Given the description of an element on the screen output the (x, y) to click on. 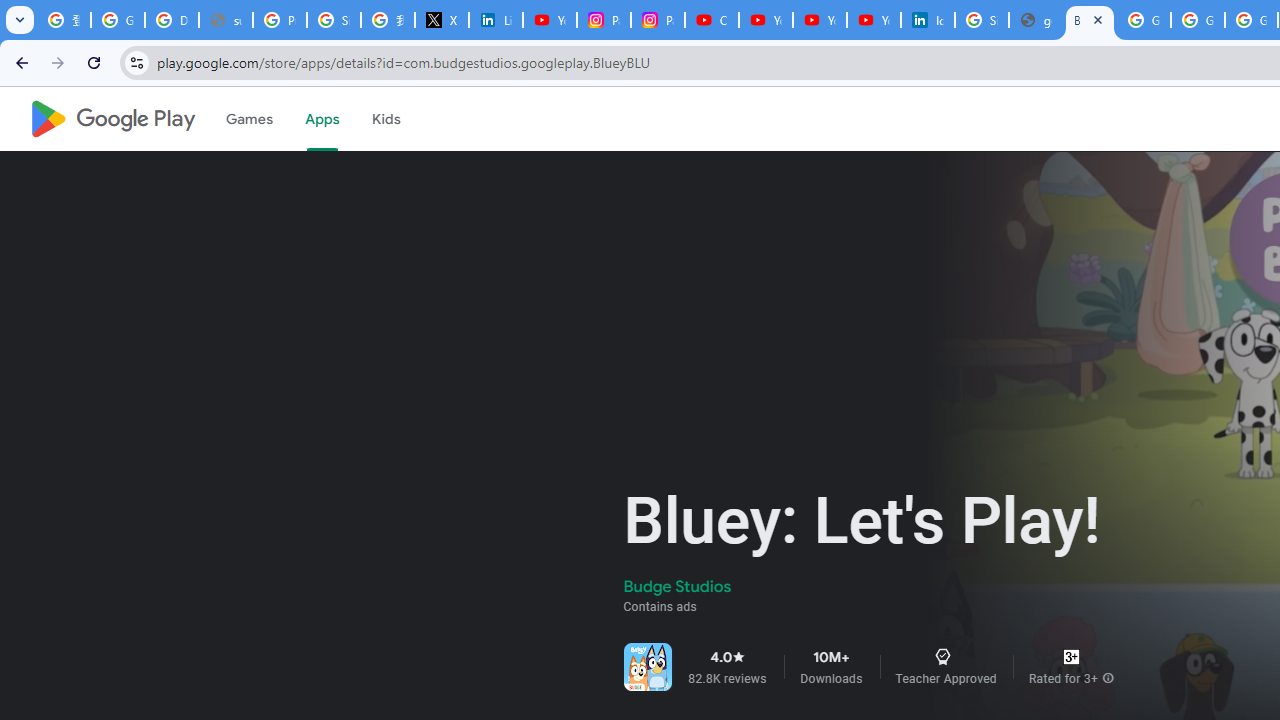
Content rating (1071, 656)
Apps (321, 119)
Google Play logo (111, 119)
YouTube Content Monetization Policies - How YouTube Works (550, 20)
YouTube Culture & Trends - YouTube Top 10, 2021 (819, 20)
Privacy Help Center - Policies Help (280, 20)
